Given the description of an element on the screen output the (x, y) to click on. 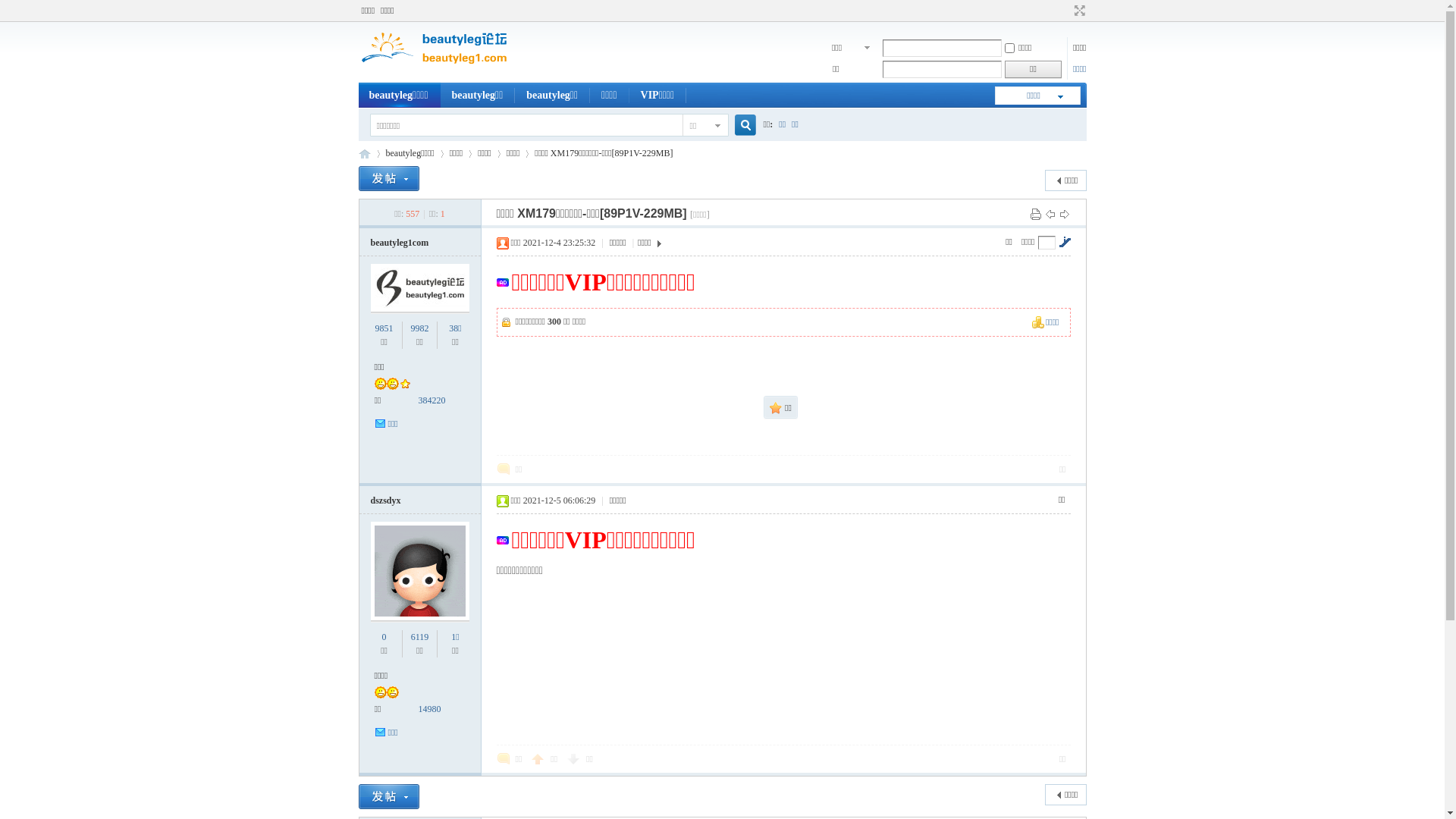
0 Element type: text (384, 636)
beautyleg1com Element type: text (399, 242)
true Element type: text (738, 125)
6119 Element type: text (420, 636)
14980 Element type: text (429, 708)
9851 Element type: text (384, 328)
dszsdyx Element type: text (385, 500)
384220 Element type: text (431, 400)
9982 Element type: text (419, 328)
